Given the description of an element on the screen output the (x, y) to click on. 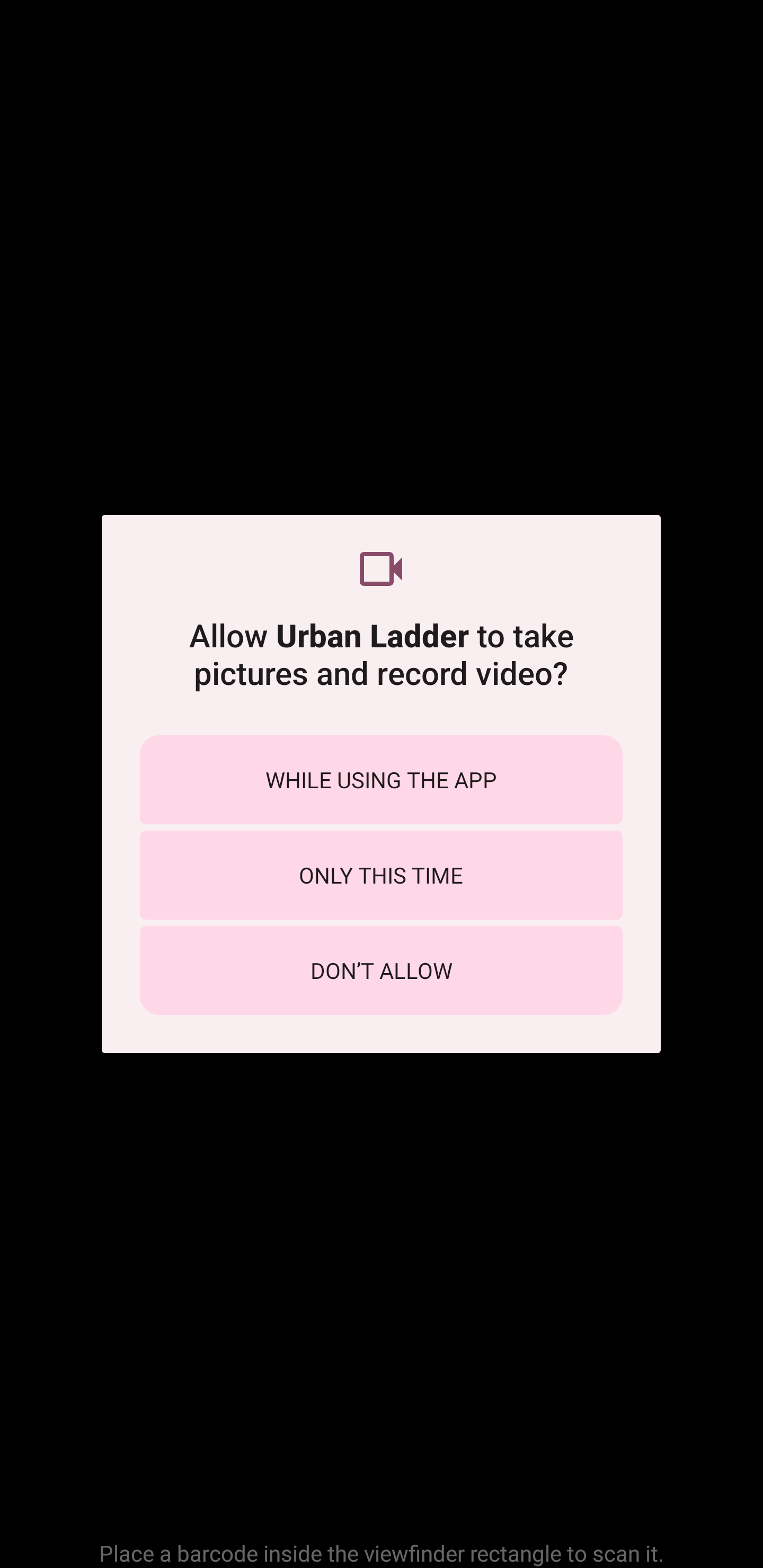
WHILE USING THE APP (380, 779)
ONLY THIS TIME (380, 874)
DON’T ALLOW (380, 970)
